Given the description of an element on the screen output the (x, y) to click on. 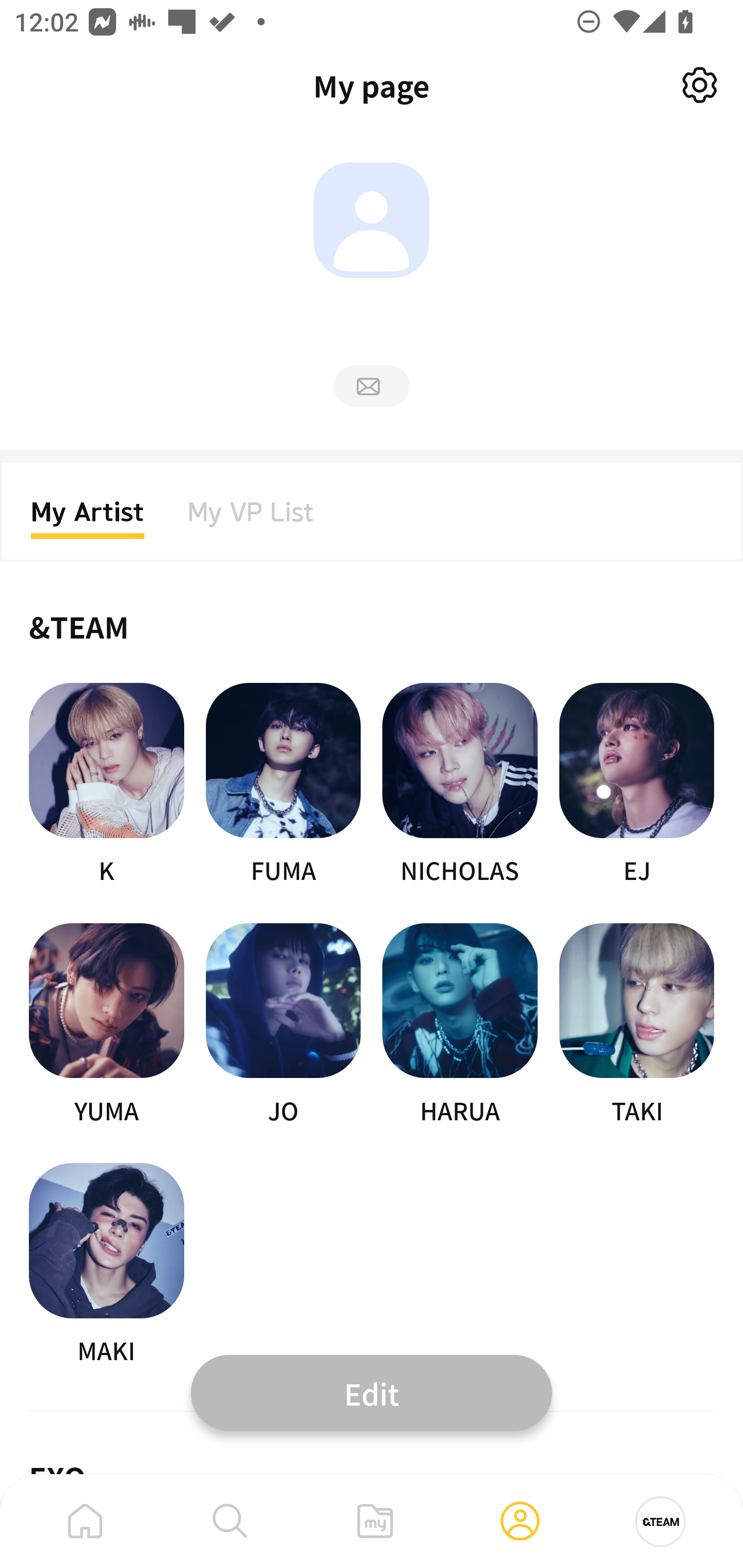
My Artist (87, 517)
My VP List (250, 517)
K (106, 785)
FUMA (282, 785)
NICHOLAS (459, 785)
EJ (636, 785)
YUMA (106, 1025)
JO (282, 1025)
HARUA (459, 1025)
TAKI (636, 1025)
MAKI (106, 1265)
Edit (371, 1392)
